Given the description of an element on the screen output the (x, y) to click on. 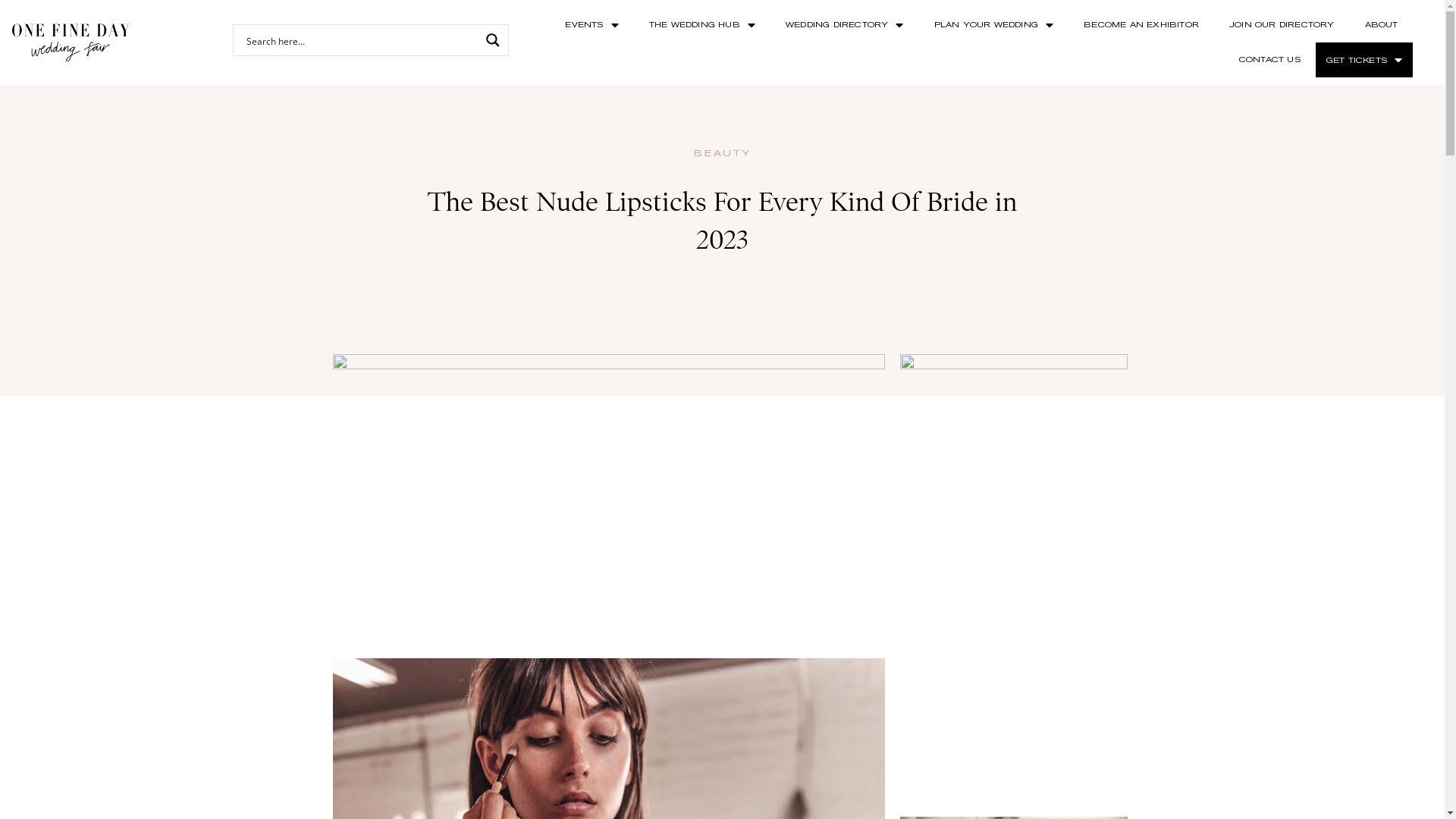
GET TICKETS Element type: text (1363, 59)
EVENTS Element type: text (591, 24)
JOIN OUR DIRECTORY Element type: text (1281, 24)
CONTACT US Element type: text (1269, 59)
ABOUT Element type: text (1381, 24)
WEDDING DIRECTORY Element type: text (844, 24)
PLAN YOUR WEDDING Element type: text (994, 24)
THE WEDDING HUB Element type: text (701, 24)
BECOME AN EXHIBITOR Element type: text (1141, 24)
